Given the description of an element on the screen output the (x, y) to click on. 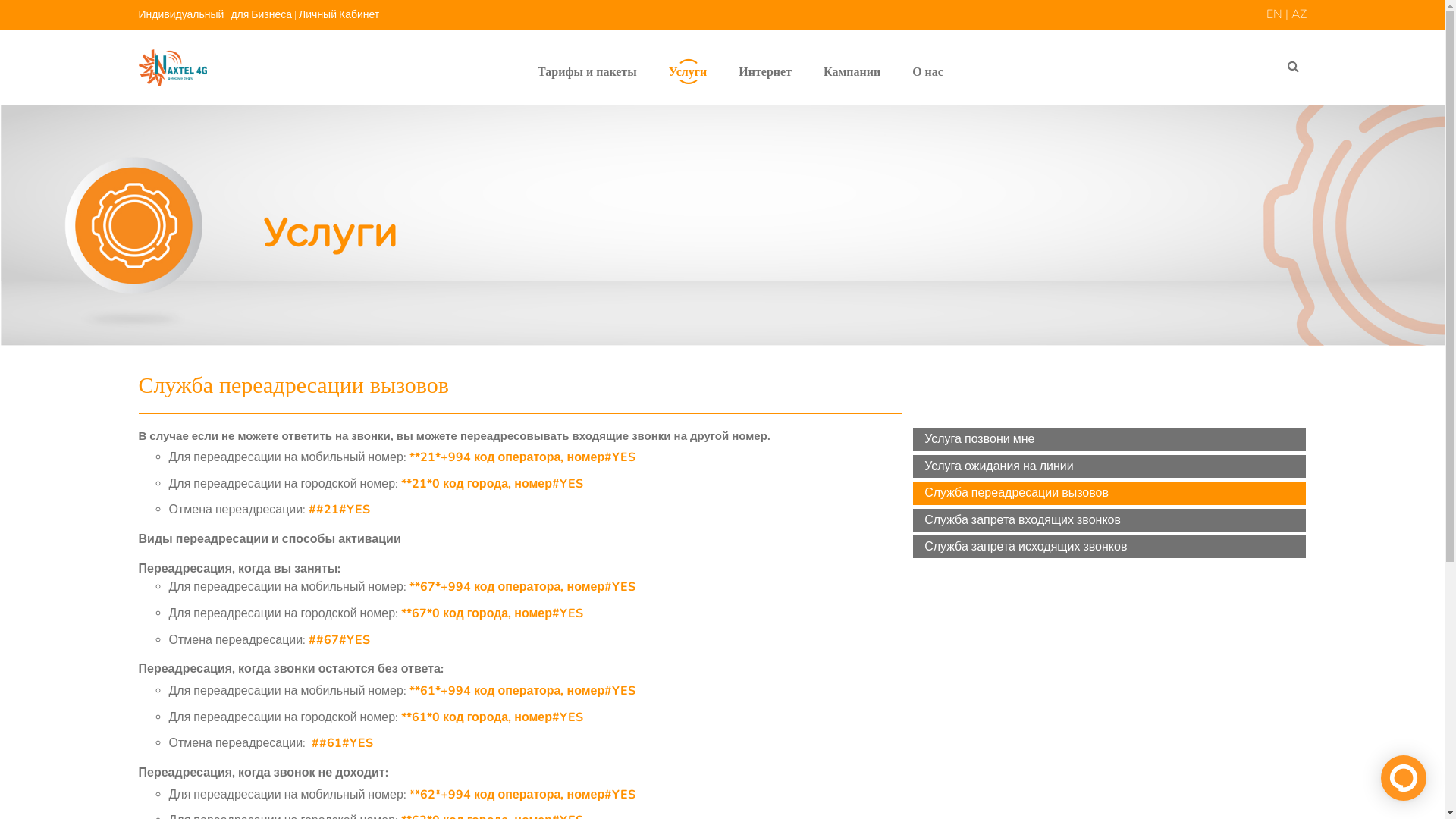
AZ Element type: text (1297, 14)
EN Element type: text (1274, 14)
